Given the description of an element on the screen output the (x, y) to click on. 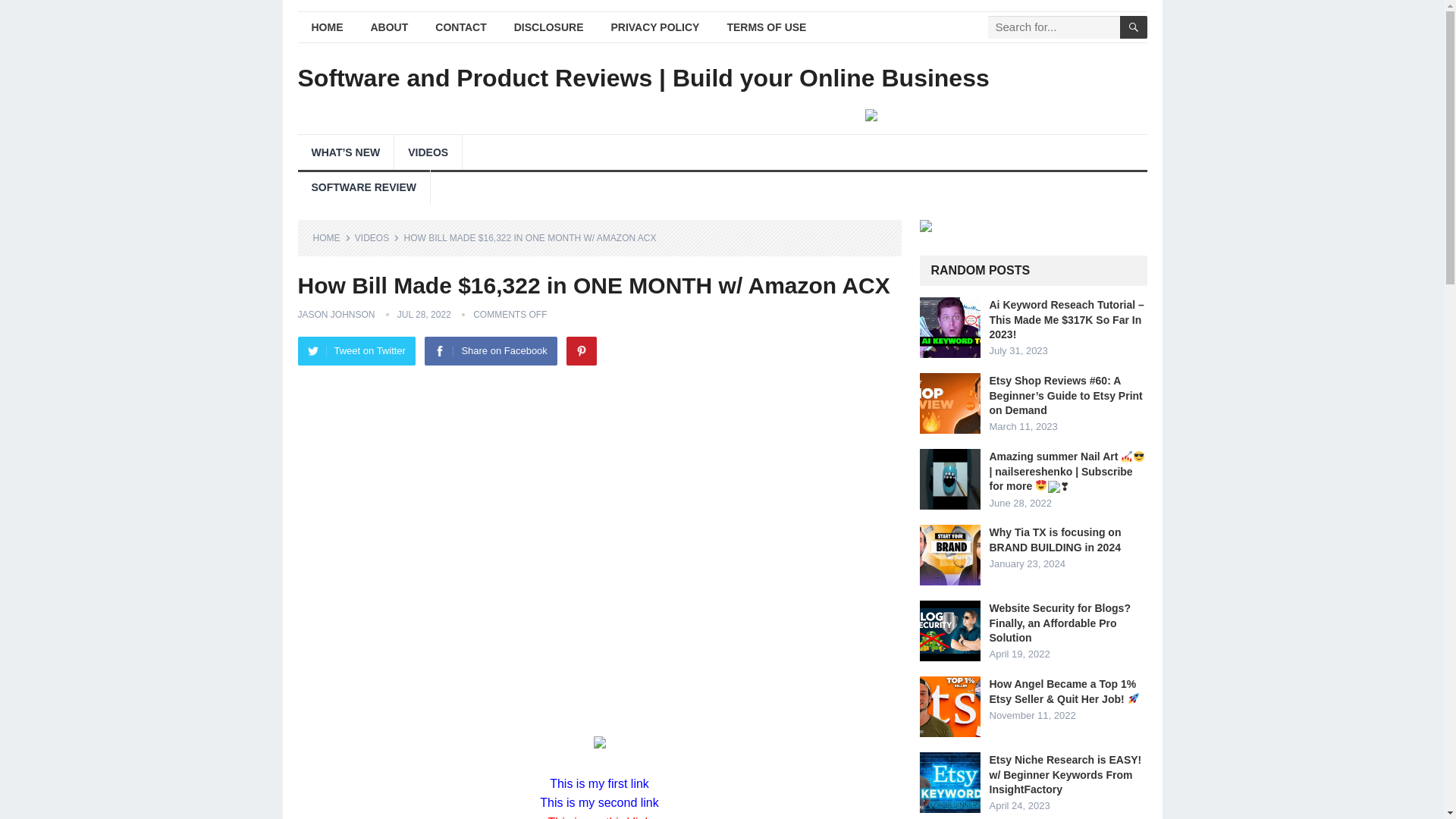
Posts by Jason Johnson (335, 314)
DISCLOSURE (548, 27)
This is my first link (599, 783)
VIDEOS (376, 237)
Pinterest (581, 350)
JASON JOHNSON (335, 314)
View all posts in Videos (376, 237)
HOME (326, 27)
TERMS OF USE (766, 27)
